Given the description of an element on the screen output the (x, y) to click on. 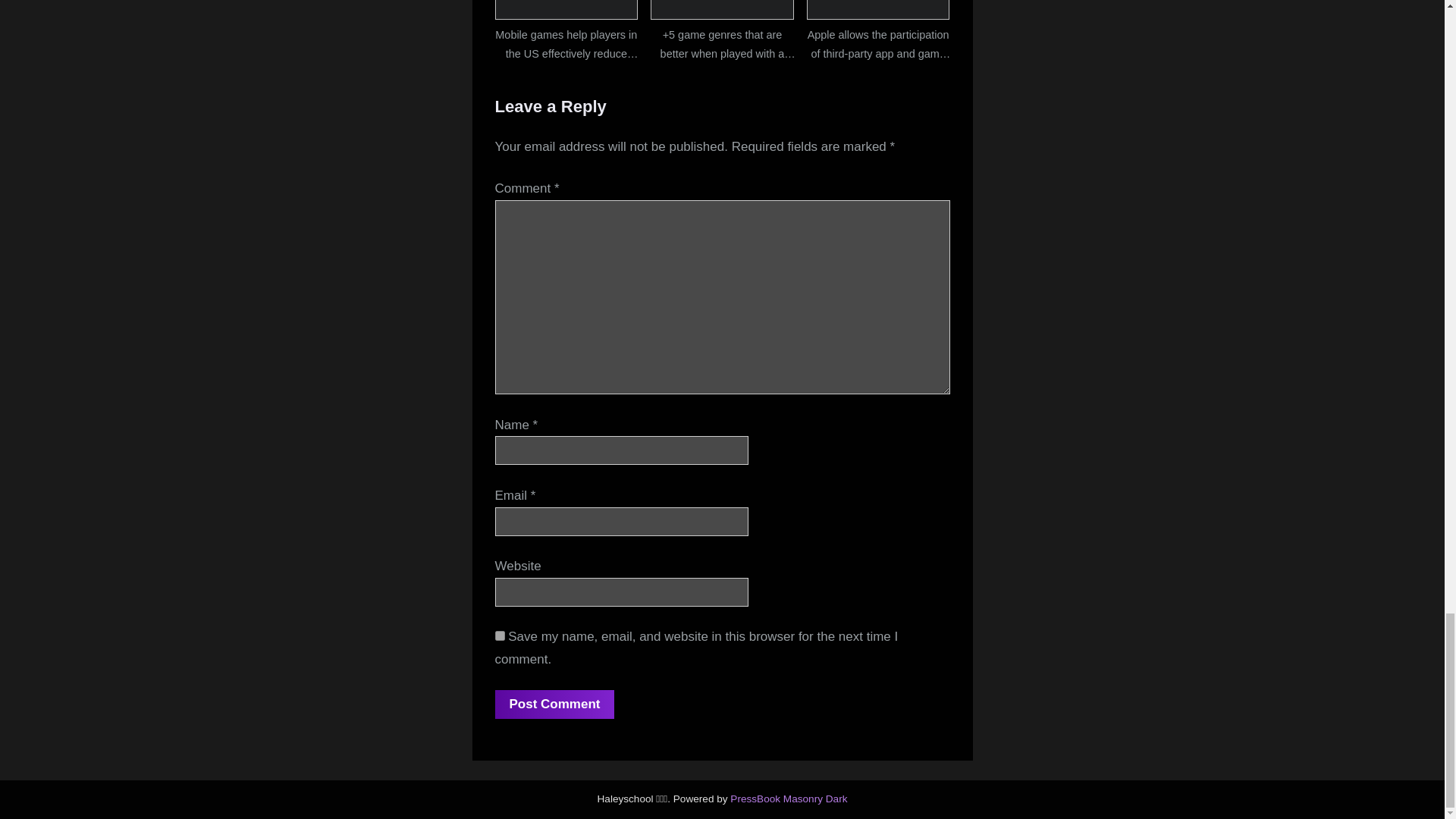
yes (499, 635)
Post Comment (554, 704)
